Given the description of an element on the screen output the (x, y) to click on. 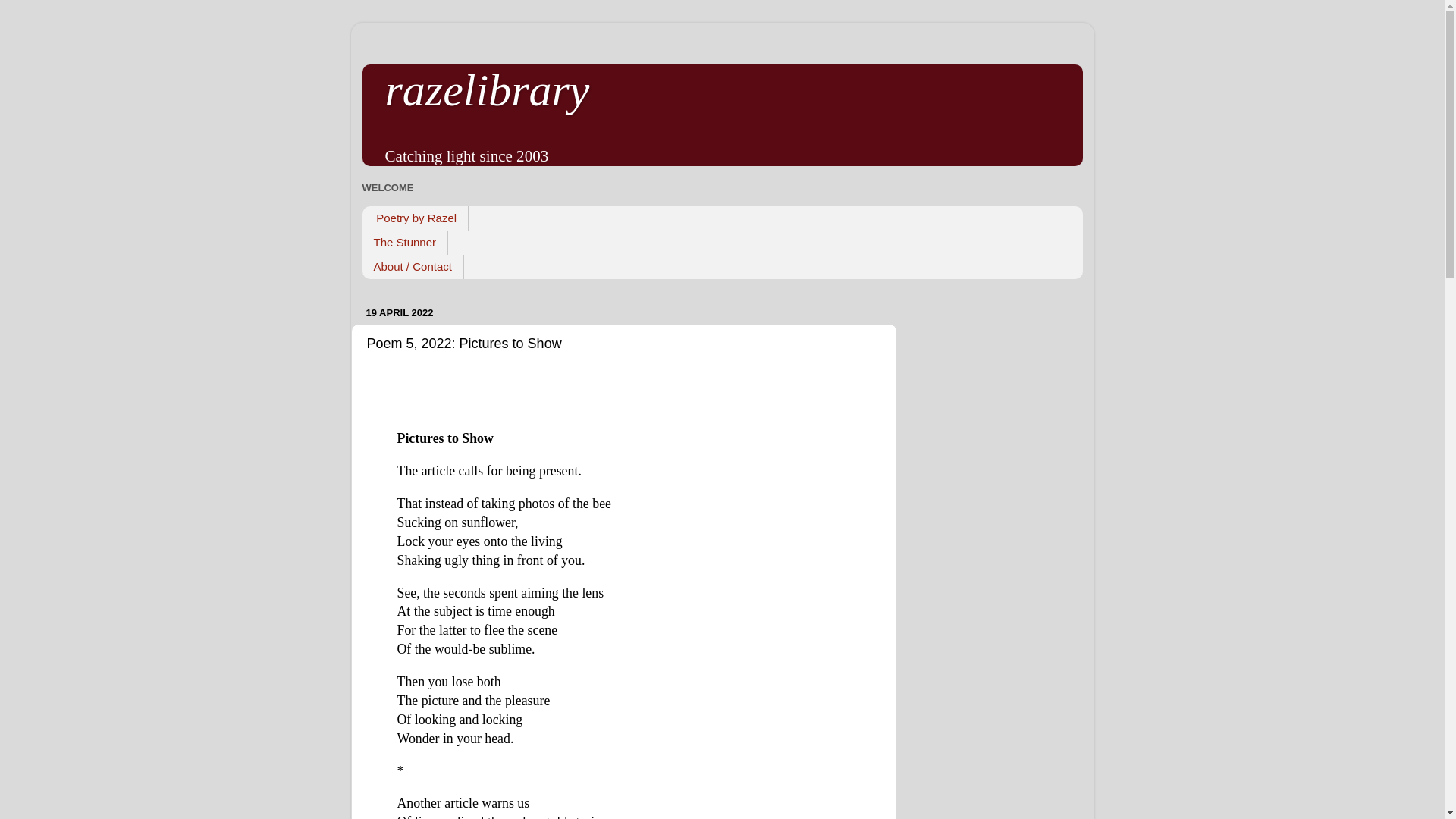
razelibrary (487, 90)
Poetry by Razel (415, 218)
The Stunner (405, 242)
